Given the description of an element on the screen output the (x, y) to click on. 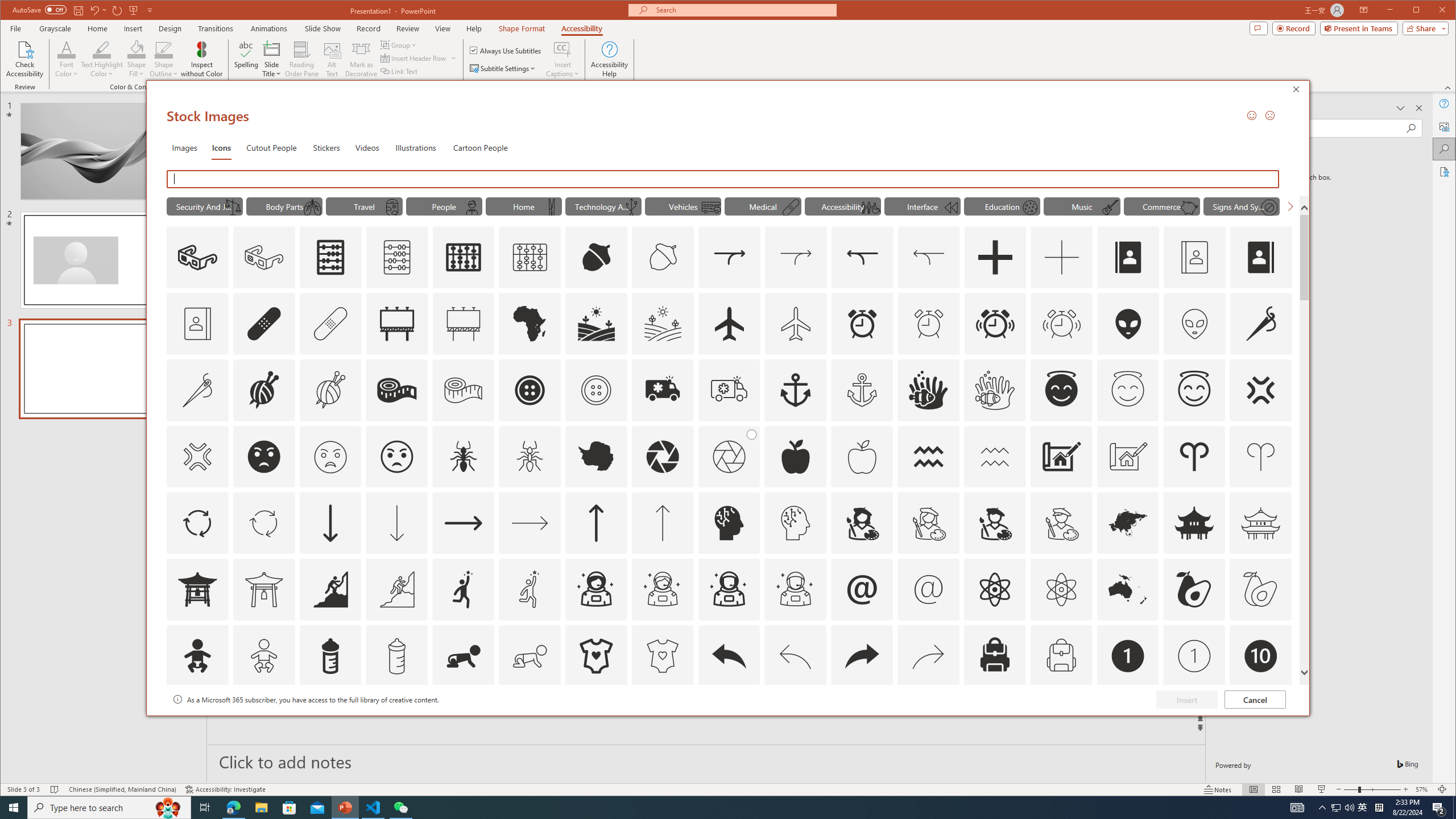
AutomationID: _134_Angel_Face_A (1061, 389)
AutomationID: Icons_ArrowDown_M (397, 522)
AutomationID: Icons_Aspiration1_M (529, 589)
AutomationID: Icons_Baby (197, 655)
AutomationID: Icons_AsianTemple (1193, 522)
